Given the description of an element on the screen output the (x, y) to click on. 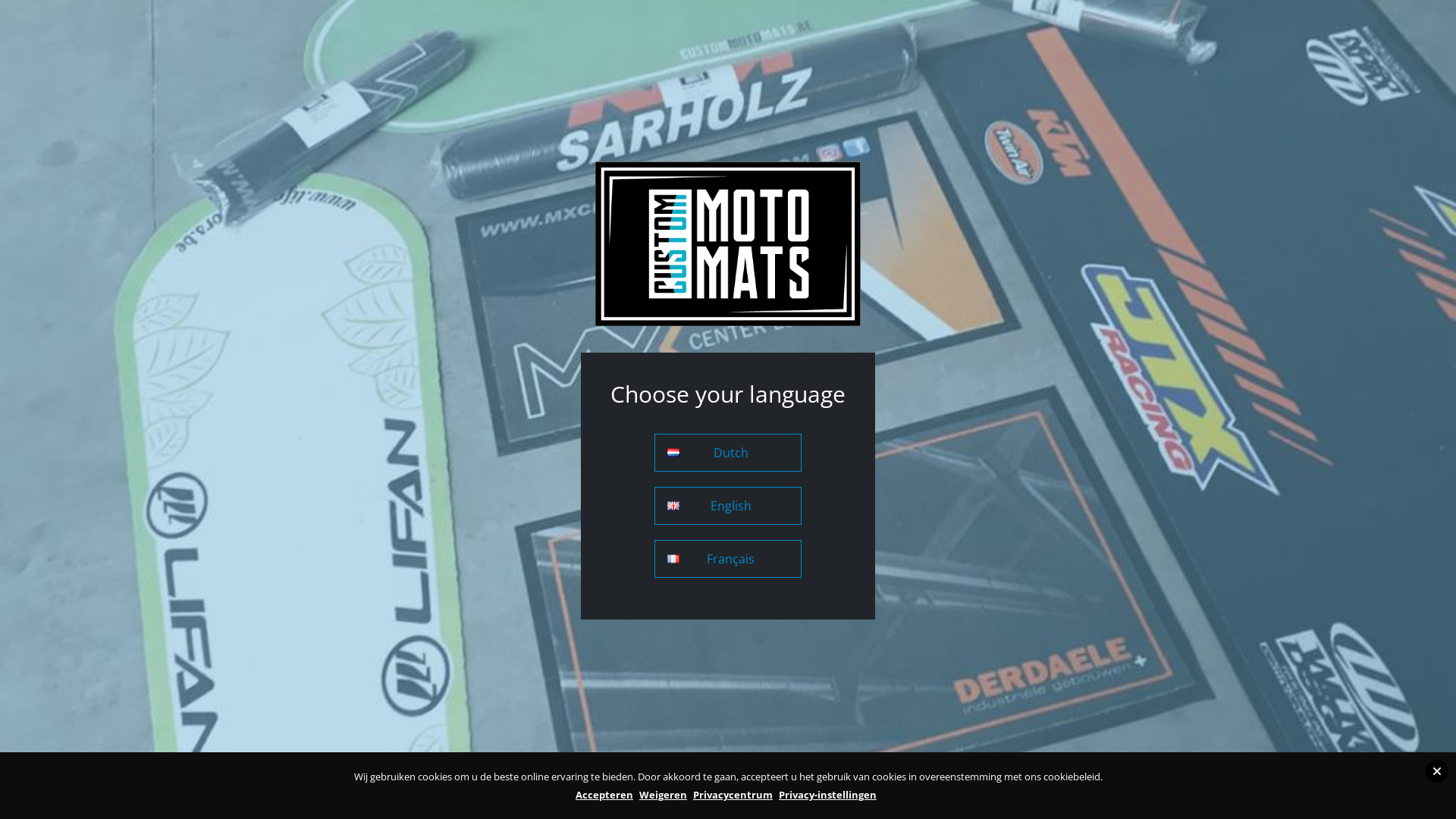
Privacycentrum Element type: text (732, 794)
English Element type: text (727, 505)
Dutch Element type: text (727, 452)
x Element type: text (1436, 770)
Privacy-instellingen Element type: text (827, 794)
Weigeren Element type: text (663, 794)
Accepteren Element type: text (604, 794)
